Given the description of an element on the screen output the (x, y) to click on. 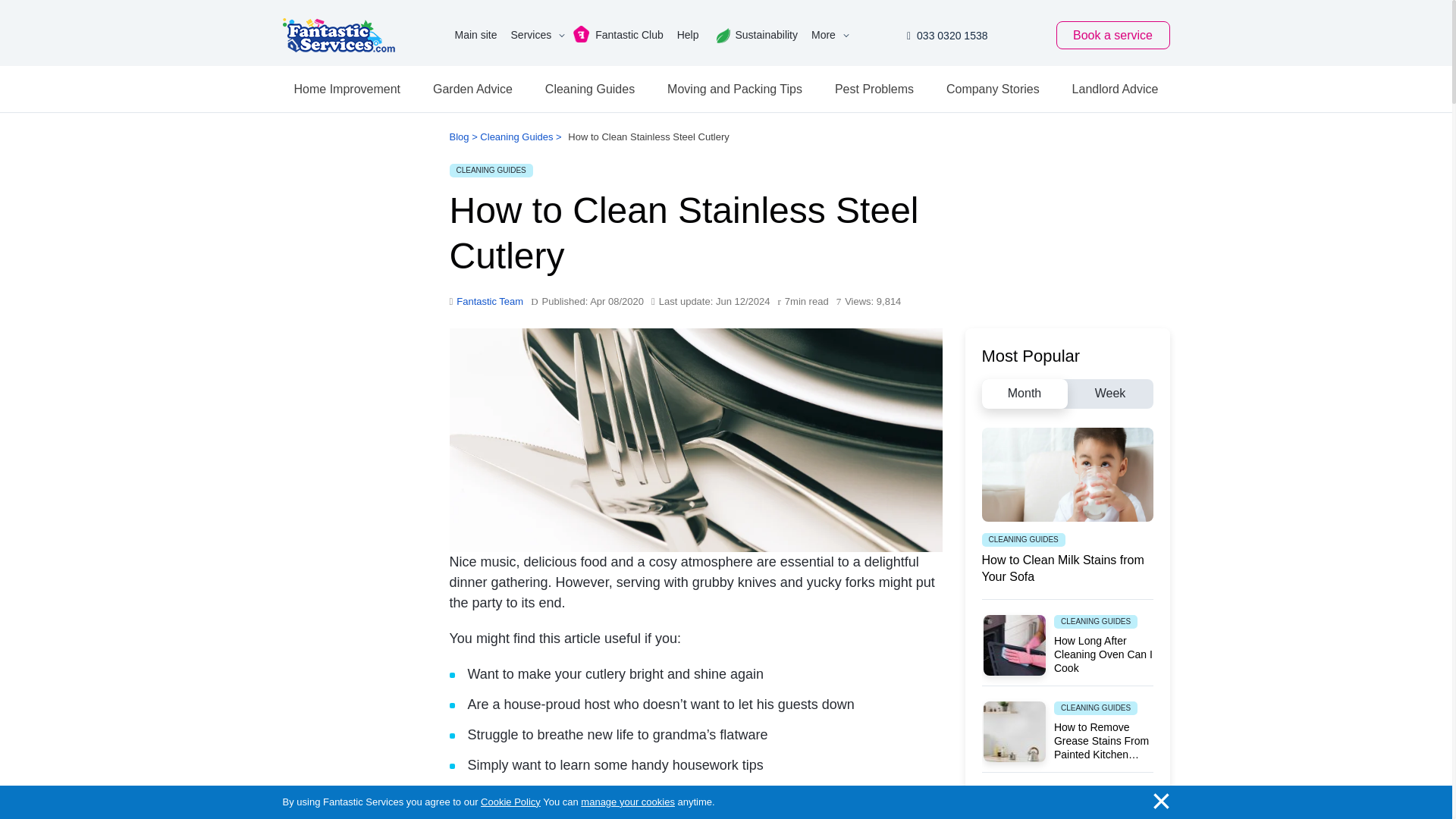
manage your cookies (627, 802)
Fantastic Services Blog (338, 35)
Posts by Fantastic Team (489, 302)
Book online (1112, 35)
Cookie Policy (510, 802)
x (1161, 800)
